Given the description of an element on the screen output the (x, y) to click on. 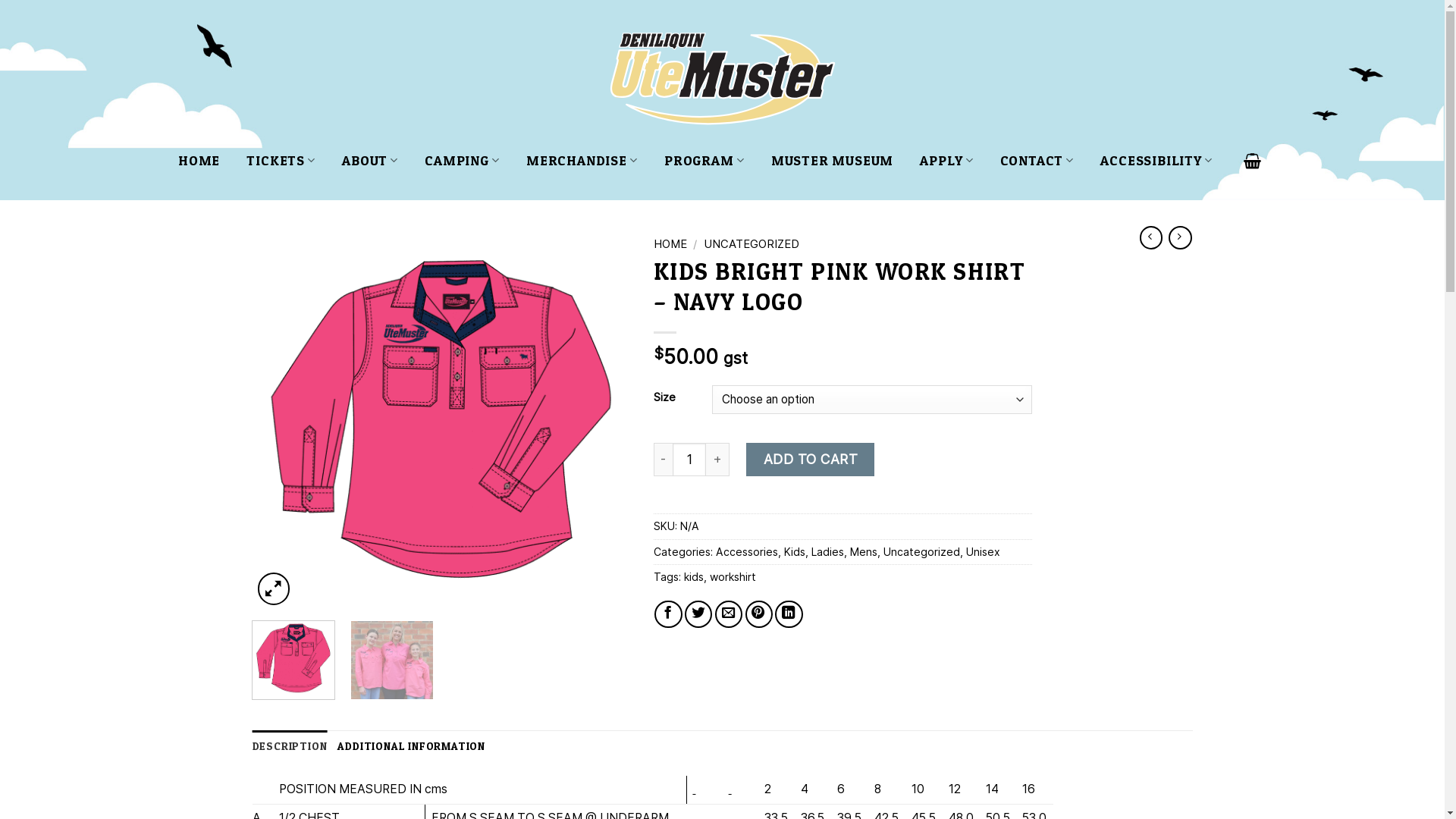
Hot Pink Work Shirt Element type: hover (440, 419)
Unisex Element type: text (983, 551)
ADDITIONAL INFORMATION Element type: text (411, 746)
HOME Element type: text (670, 244)
Ladies Element type: text (827, 551)
workshirt Element type: text (732, 576)
Share on LinkedIn Element type: hover (788, 613)
ABOUT Element type: text (370, 160)
MERCHANDISE Element type: text (581, 160)
Cart Element type: hover (1252, 160)
DESCRIPTION Element type: text (288, 746)
Accessories Element type: text (746, 551)
CAMPING Element type: text (461, 160)
TICKETS Element type: text (280, 160)
Mens Element type: text (863, 551)
CONTACT Element type: text (1037, 160)
Uncategorized Element type: text (921, 551)
kids Element type: text (693, 576)
Zoom Element type: hover (273, 588)
UNCATEGORIZED Element type: text (751, 244)
Email to a Friend Element type: hover (728, 613)
ADD TO CART Element type: text (810, 459)
Share on Twitter Element type: hover (698, 613)
Skip to content Element type: text (0, 0)
Pin on Pinterest Element type: hover (758, 613)
MUSTER MUSEUM Element type: text (832, 160)
Share on Facebook Element type: hover (667, 613)
HOME Element type: text (198, 160)
Kids Element type: text (794, 551)
Deni Ute Muster Element type: hover (721, 79)
PROGRAM Element type: text (704, 160)
ACCESSIBILITY Element type: text (1155, 160)
APPLY Element type: text (945, 160)
